Given the description of an element on the screen output the (x, y) to click on. 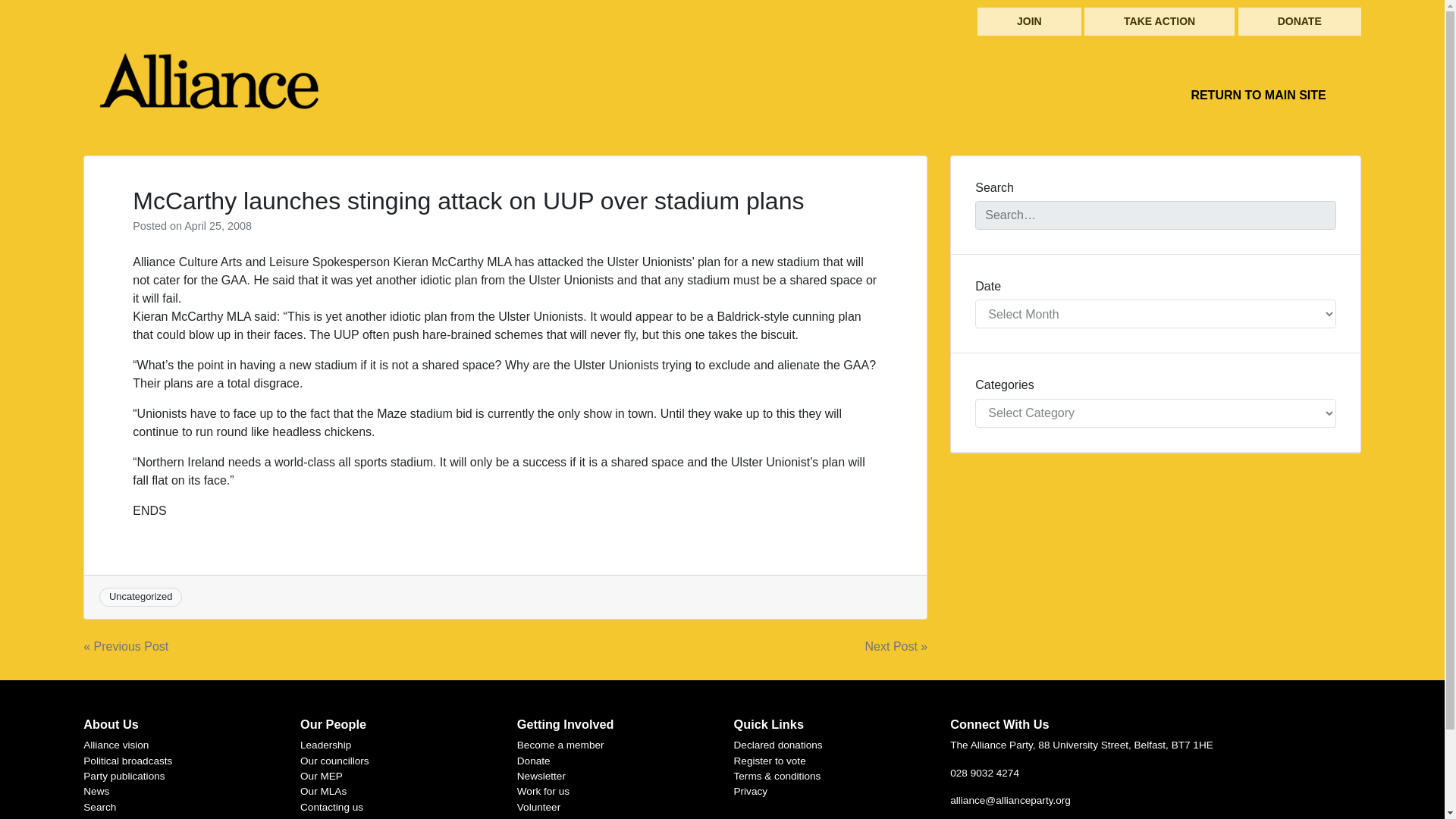
Party publications (123, 776)
News (95, 790)
Leadership (324, 745)
April 25, 2008 (217, 225)
Our MLAs (322, 790)
Contacting us (330, 807)
TAKE ACTION (1159, 21)
028 9032 4274 (984, 772)
Search (99, 807)
JOIN (1028, 21)
Newsletter (541, 776)
Register to vote (769, 760)
Alliance vision (115, 745)
Political broadcasts (126, 760)
Our MEP (320, 776)
